Given the description of an element on the screen output the (x, y) to click on. 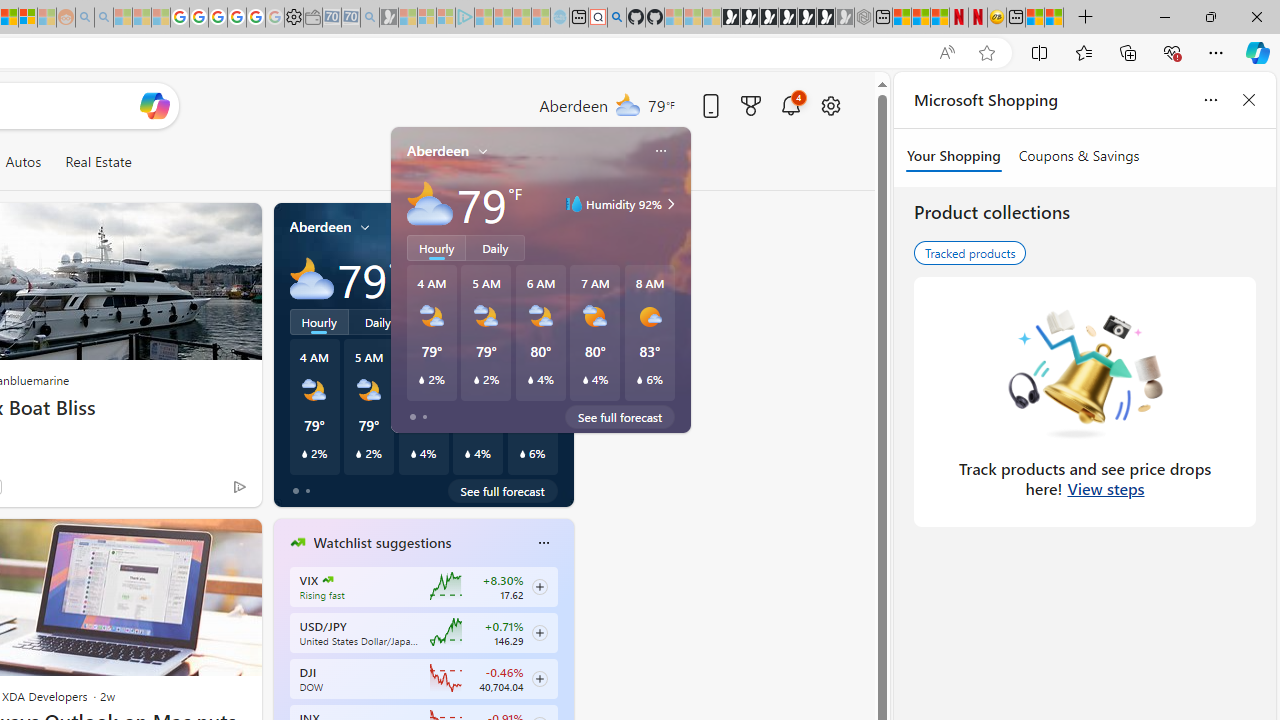
Personalize your feed" (511, 162)
github - Search (616, 17)
Class: weather-current-precipitation-glyph (522, 453)
